Given the description of an element on the screen output the (x, y) to click on. 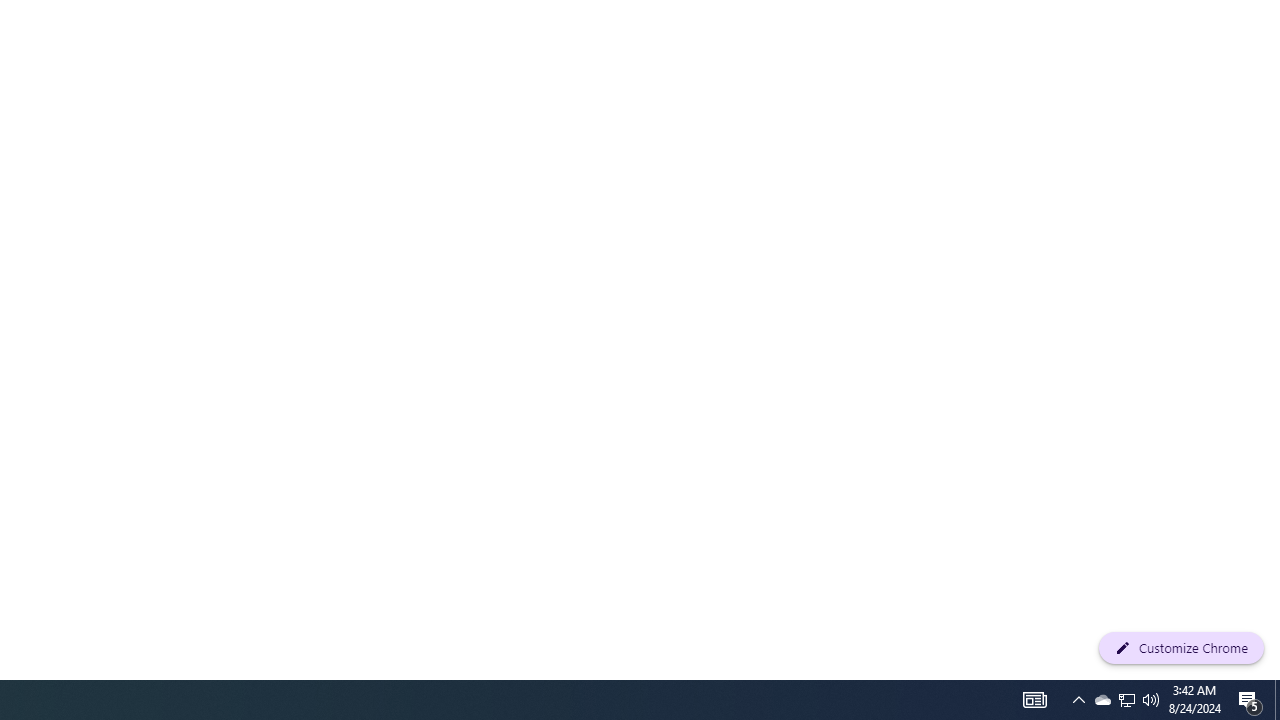
Customize Chrome (1181, 647)
